Given the description of an element on the screen output the (x, y) to click on. 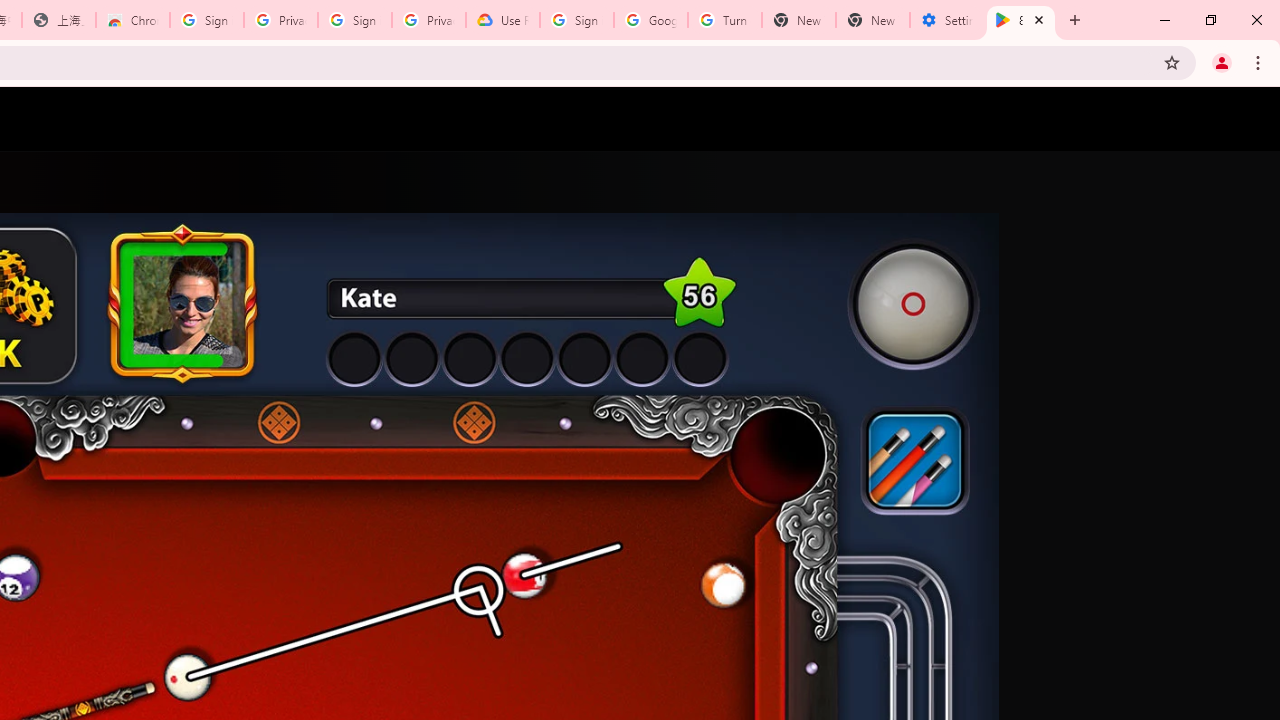
Chrome Web Store - Color themes by Chrome (133, 20)
Sign in - Google Accounts (577, 20)
Open account menu (1245, 119)
Turn cookies on or off - Computer - Google Account Help (724, 20)
